Given the description of an element on the screen output the (x, y) to click on. 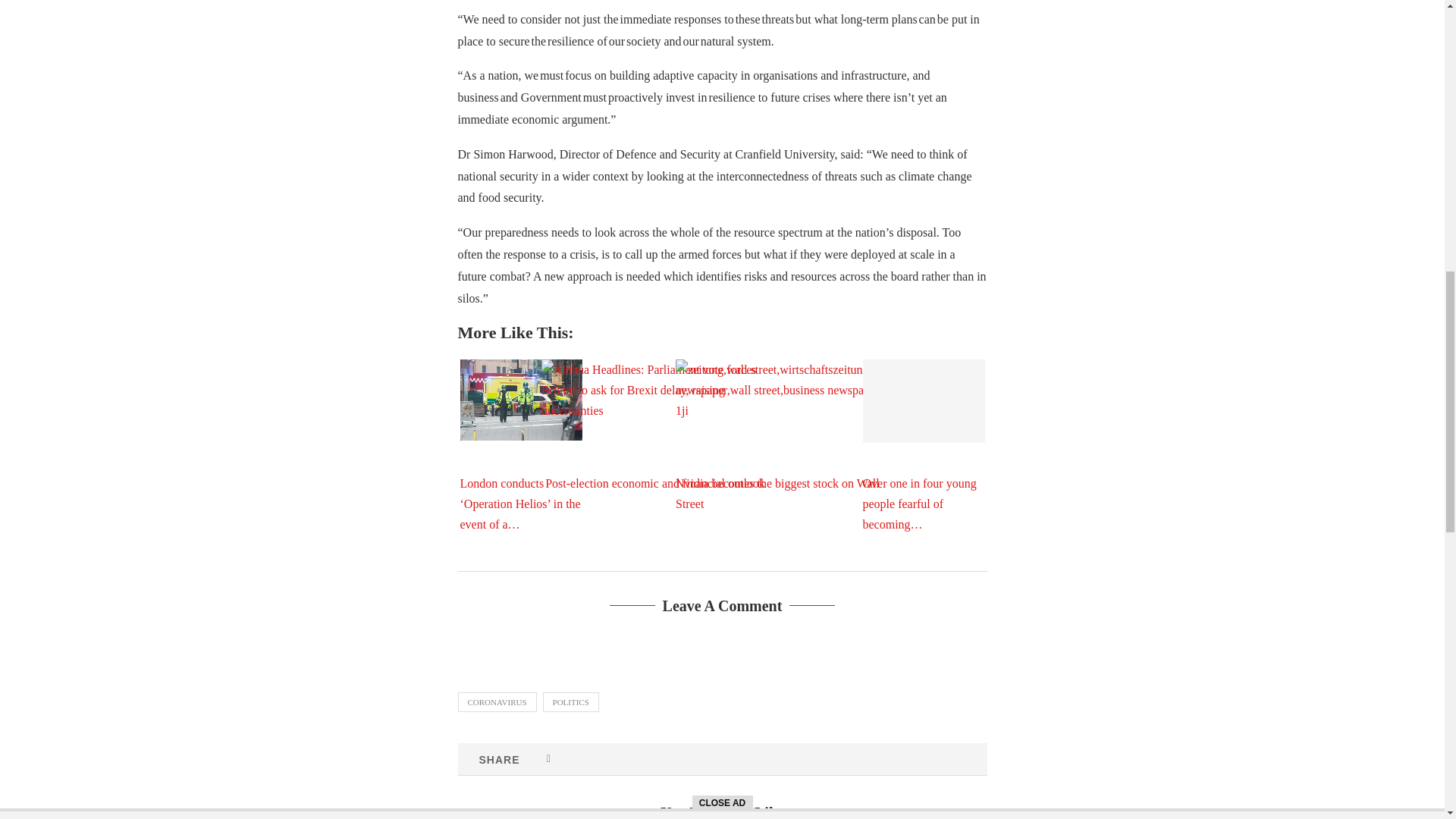
Nvidia becomes the biggest stock on Wall Street (788, 435)
Post-election economic and financial outlook (654, 435)
